Given the description of an element on the screen output the (x, y) to click on. 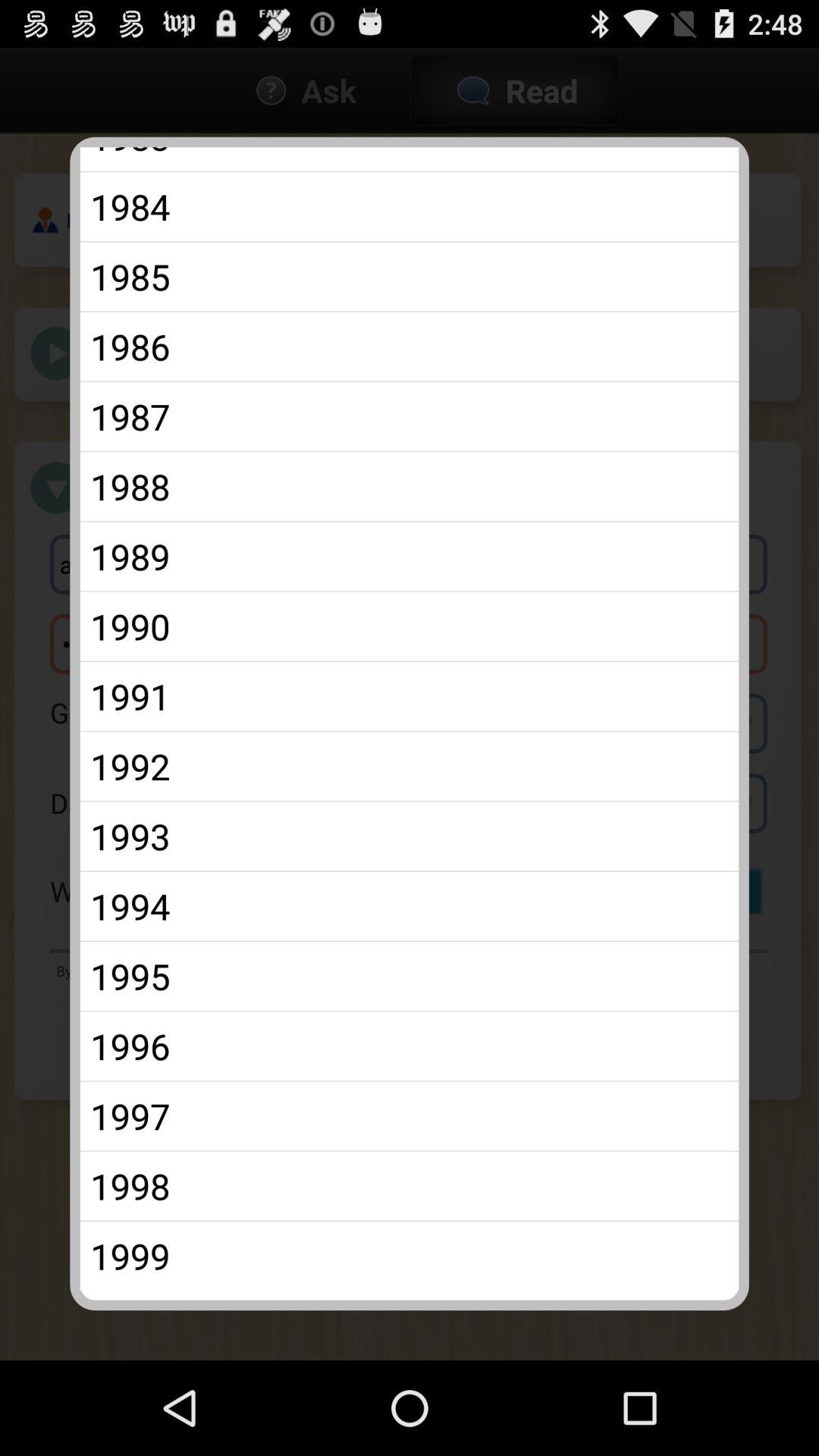
click the item below the 1994 icon (409, 975)
